Given the description of an element on the screen output the (x, y) to click on. 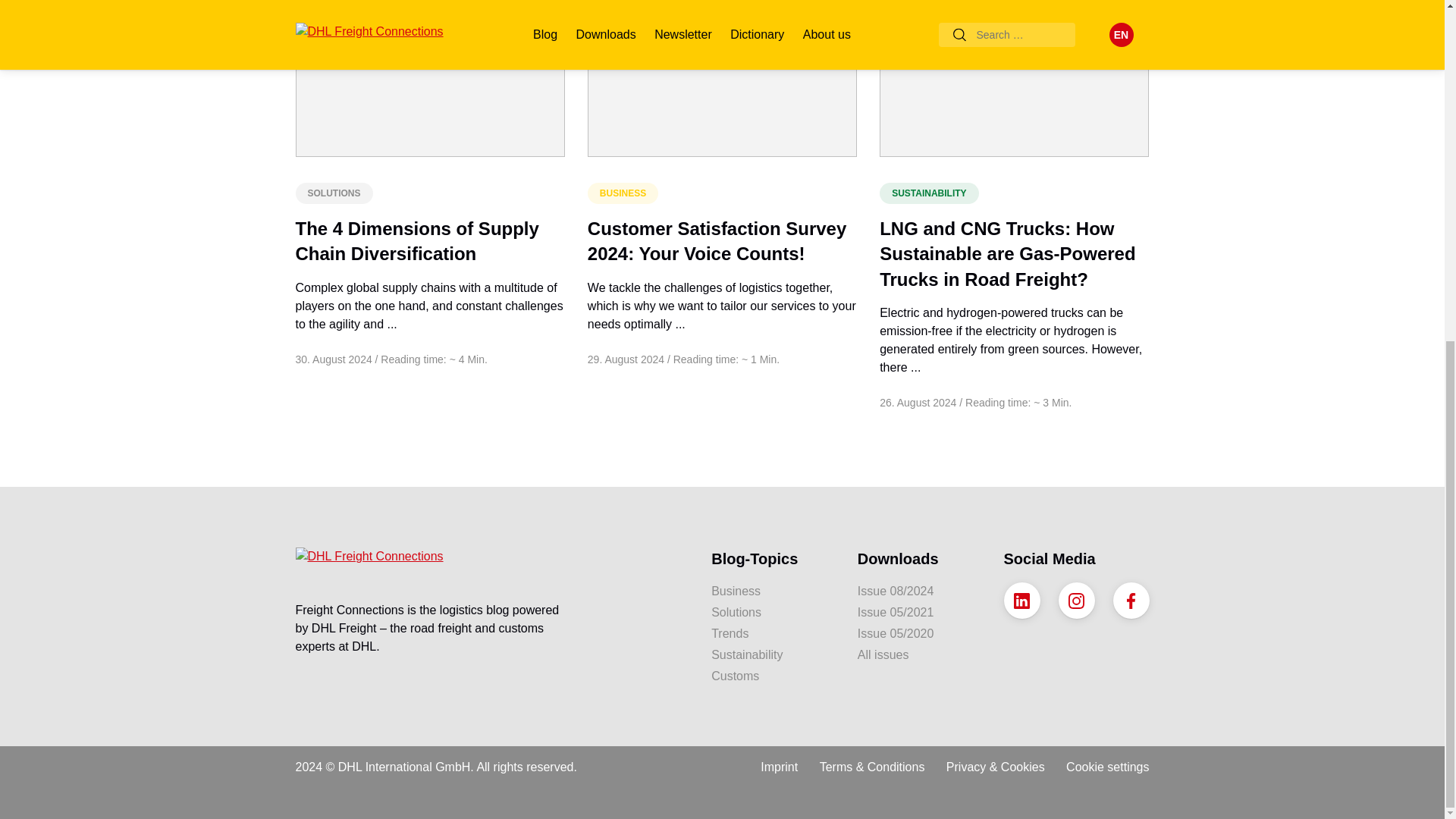
The 4 Dimensions of Supply Chain Diversification (416, 241)
Customs (772, 676)
Solutions (772, 612)
Trends (772, 633)
All issues (919, 655)
Imprint (778, 761)
Customer Satisfaction Survey 2024: Your Voice Counts! (716, 241)
Sustainability (772, 655)
Business (772, 591)
